Given the description of an element on the screen output the (x, y) to click on. 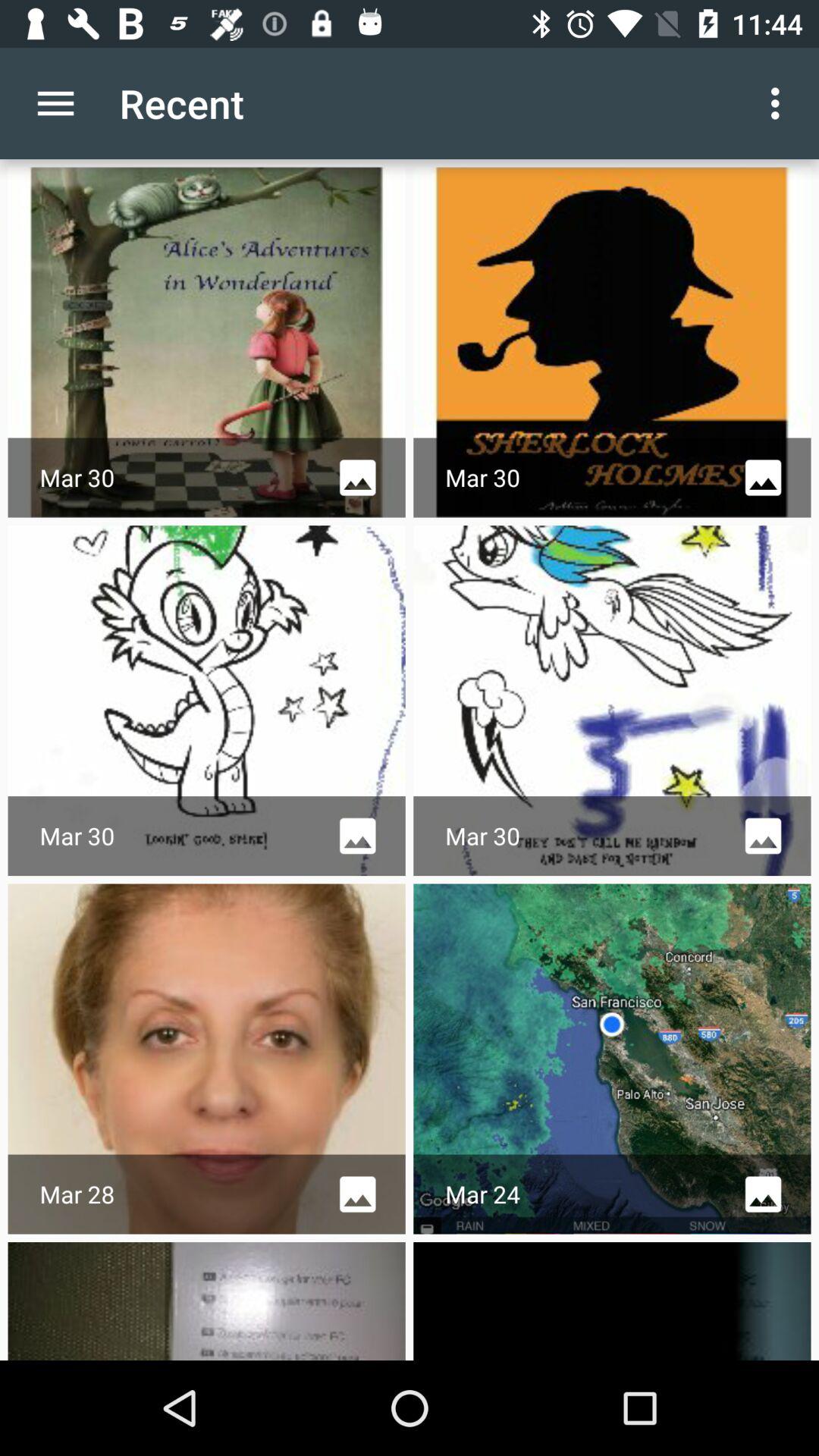
press icon next to the recent icon (779, 103)
